Given the description of an element on the screen output the (x, y) to click on. 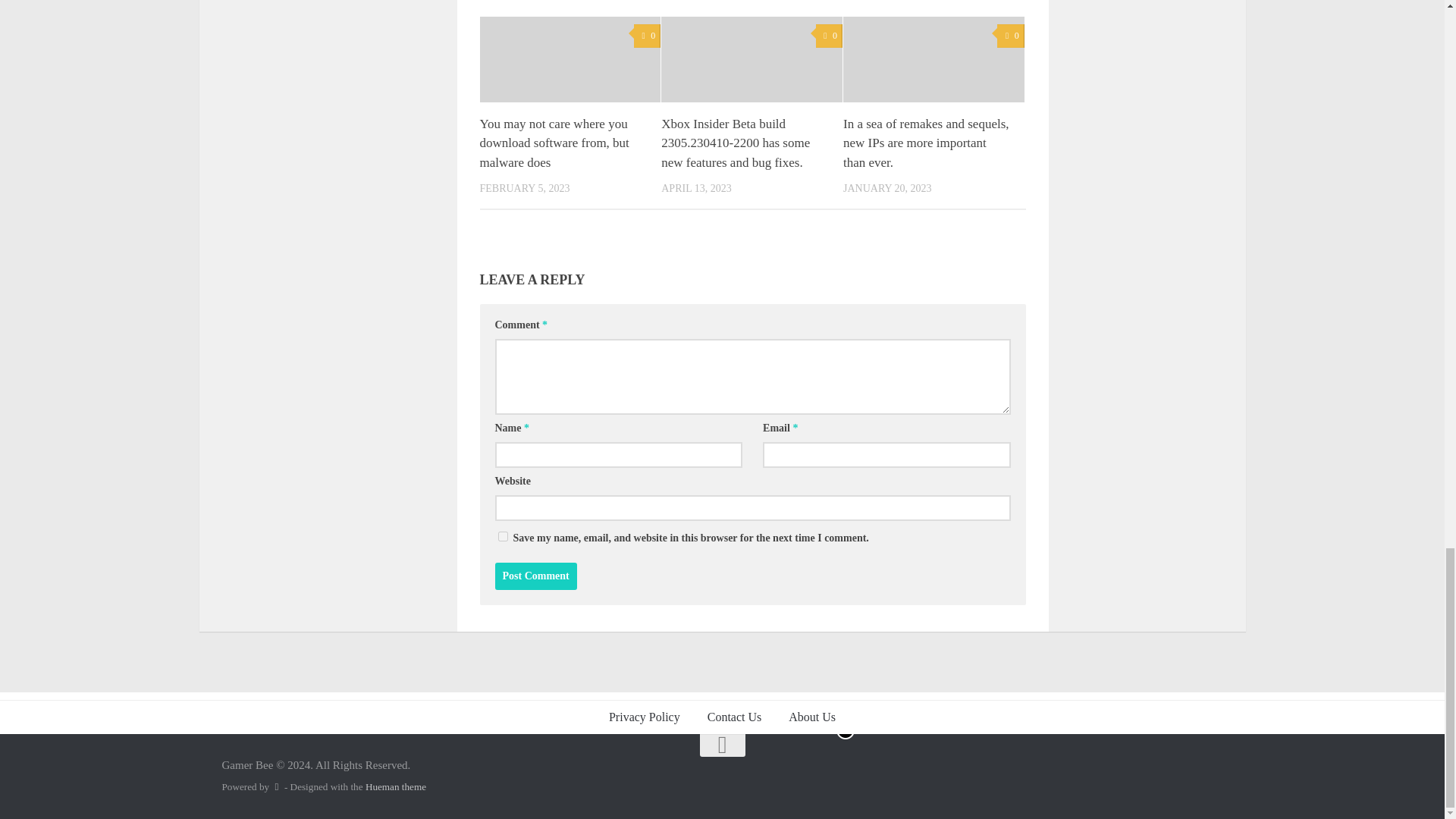
About Us (811, 717)
Privacy Policy (644, 717)
Hueman theme (395, 786)
0 (647, 35)
Post Comment (535, 575)
Contact Us (735, 717)
0 (1010, 35)
yes (501, 536)
Powered by WordPress (275, 786)
